Given the description of an element on the screen output the (x, y) to click on. 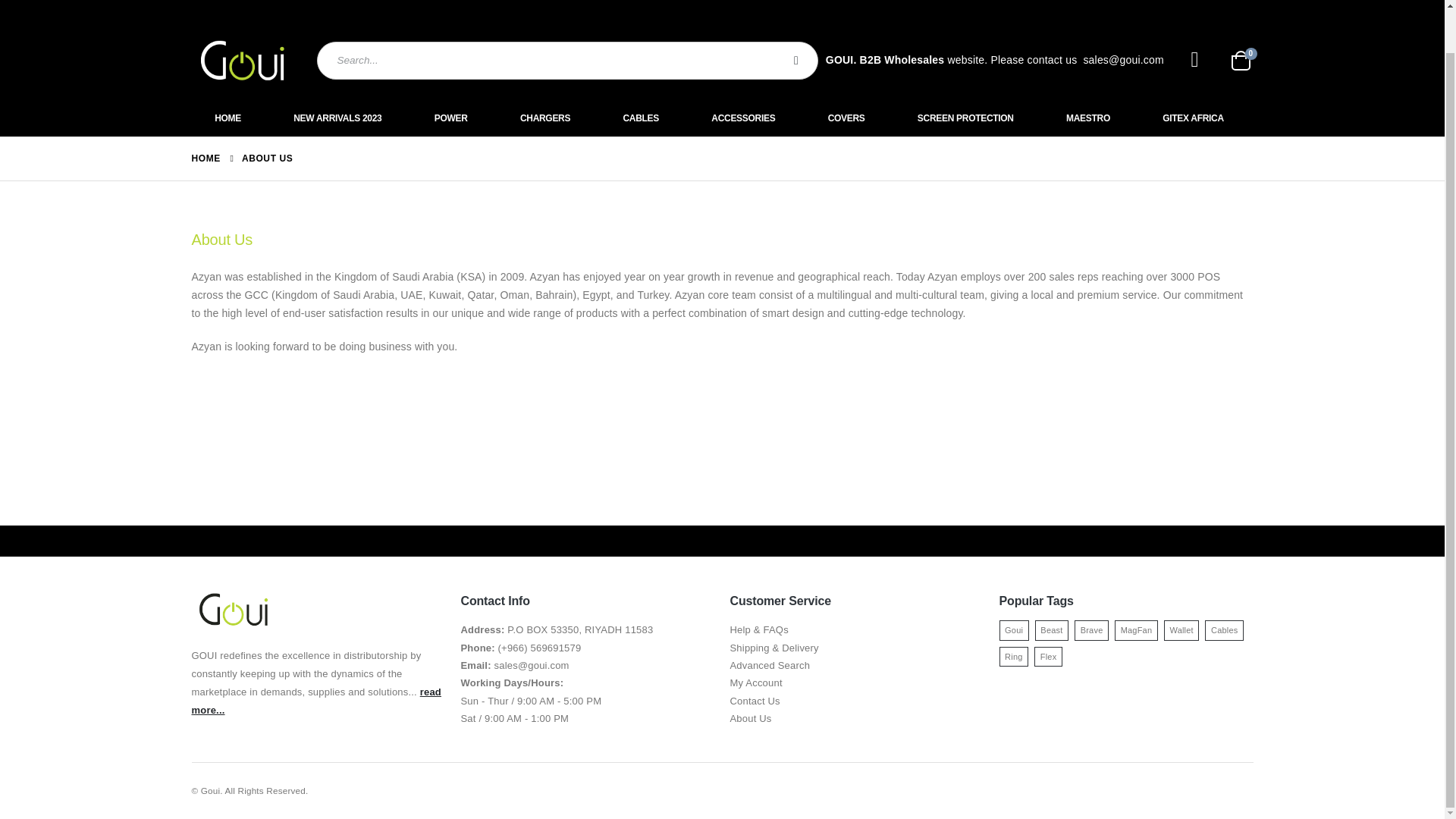
Accessories (746, 117)
GOUI (242, 60)
COVERS (850, 117)
POWER (453, 117)
read more... (315, 700)
HOME (230, 117)
Chargers (547, 117)
My Account (755, 682)
SCREEN PROTECTION (968, 117)
Covers (850, 117)
Search (797, 60)
Beast (1051, 629)
Contact Us (753, 700)
HOME (204, 158)
MAESTRO (1091, 117)
